Given the description of an element on the screen output the (x, y) to click on. 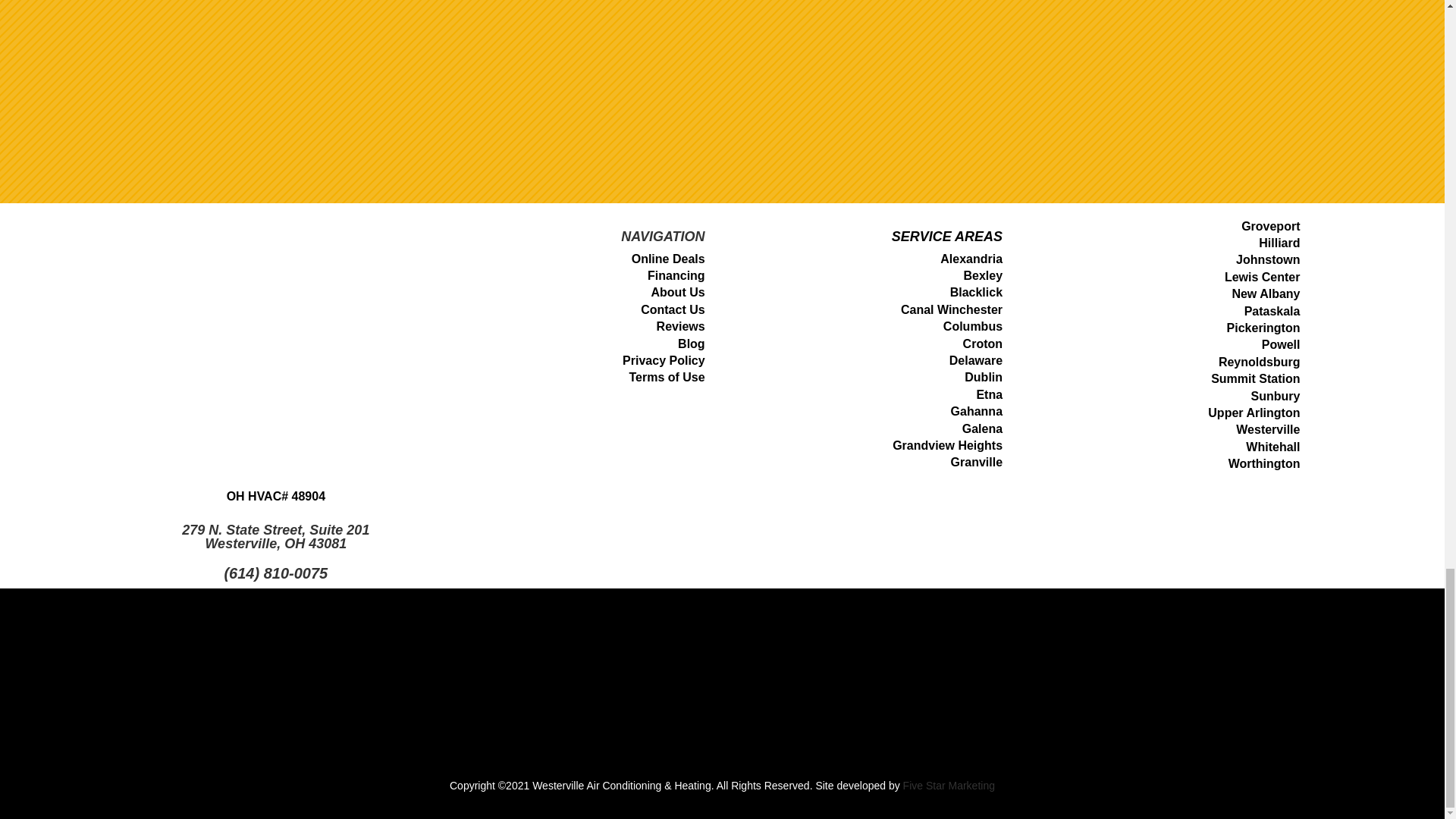
Call Us Today! (275, 573)
Online Deals (667, 258)
Contact Us (672, 309)
Westerville, OH 43081 (275, 543)
About Us (677, 291)
Reviews (680, 326)
Financing (675, 275)
279 N. State Street, Suite 201 (275, 529)
Blog (691, 343)
